Given the description of an element on the screen output the (x, y) to click on. 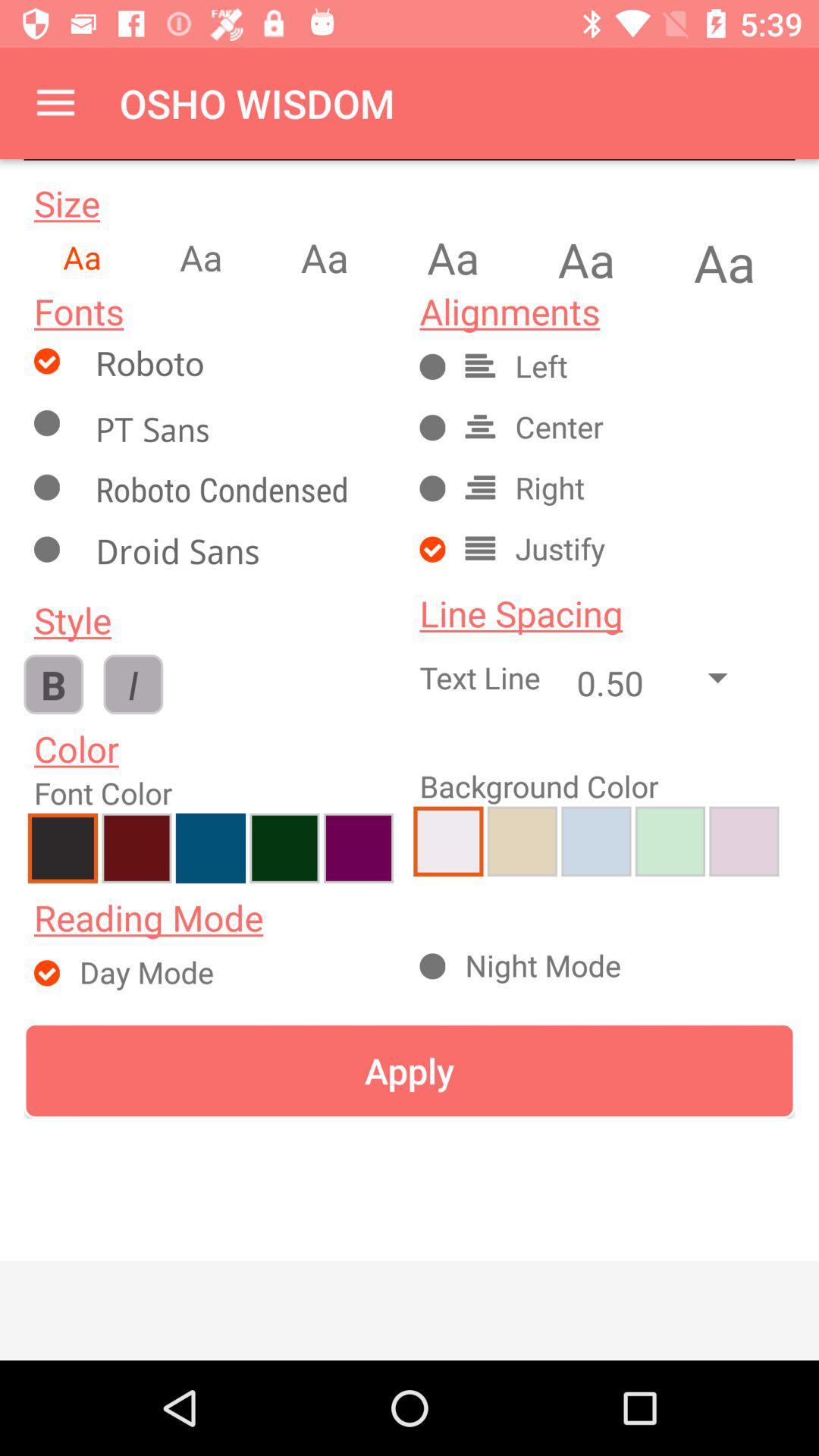
change background color to blue (596, 841)
